Given the description of an element on the screen output the (x, y) to click on. 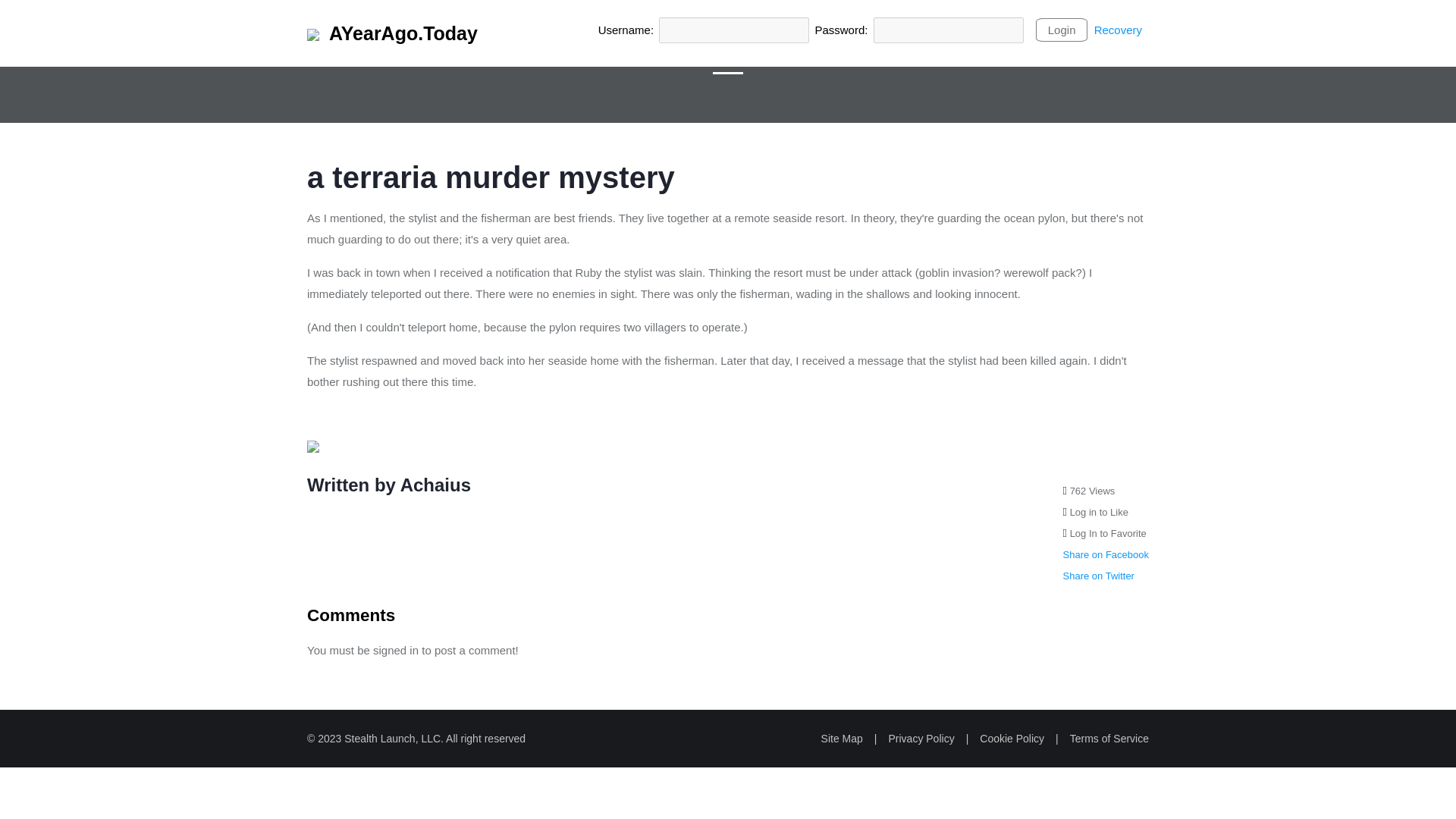
Login (1061, 29)
Cookie Policy (1011, 738)
Share on Twitter (1098, 575)
Site Map (842, 738)
Share on Facebook (1105, 554)
Privacy Policy (921, 738)
Achaius (435, 485)
Terms of Service (1109, 738)
AYearAgo.Today (392, 32)
Recovery (1117, 29)
